Given the description of an element on the screen output the (x, y) to click on. 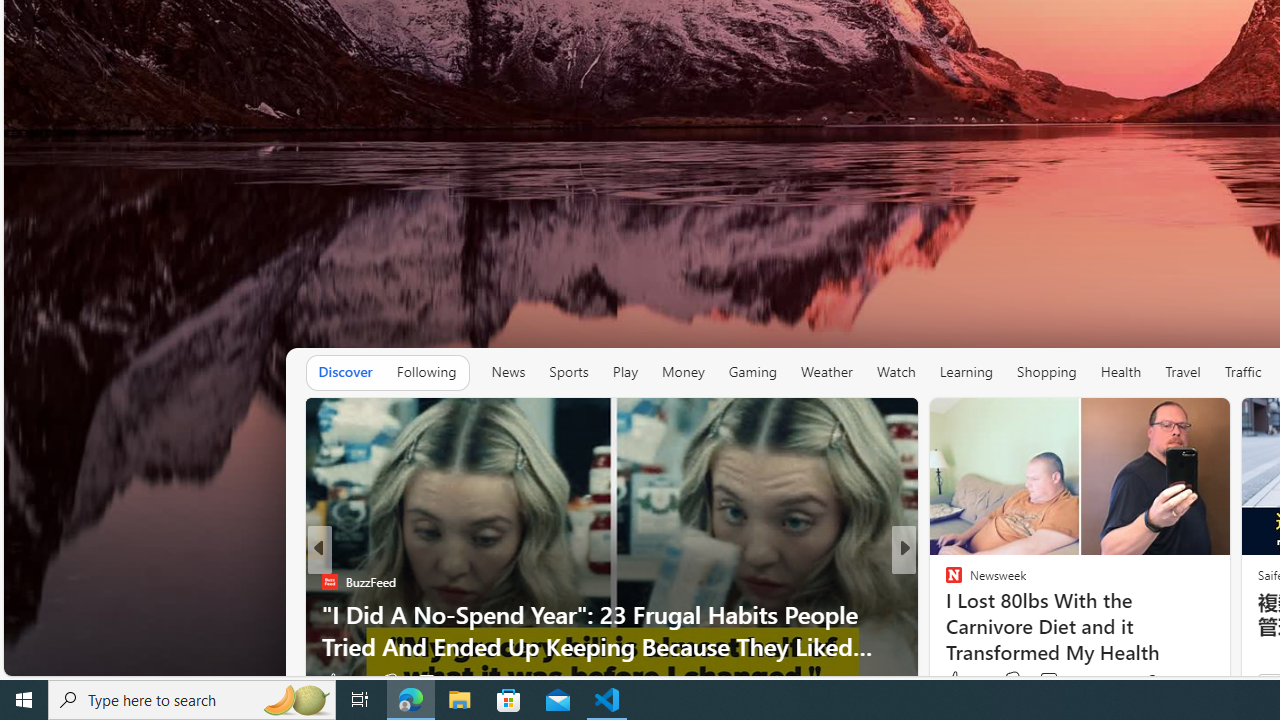
XDA Developers (944, 614)
View comments 18 Comment (428, 681)
View comments 73 Comment (1057, 680)
You're following Newsweek (1179, 679)
104 Like (959, 681)
